Given the description of an element on the screen output the (x, y) to click on. 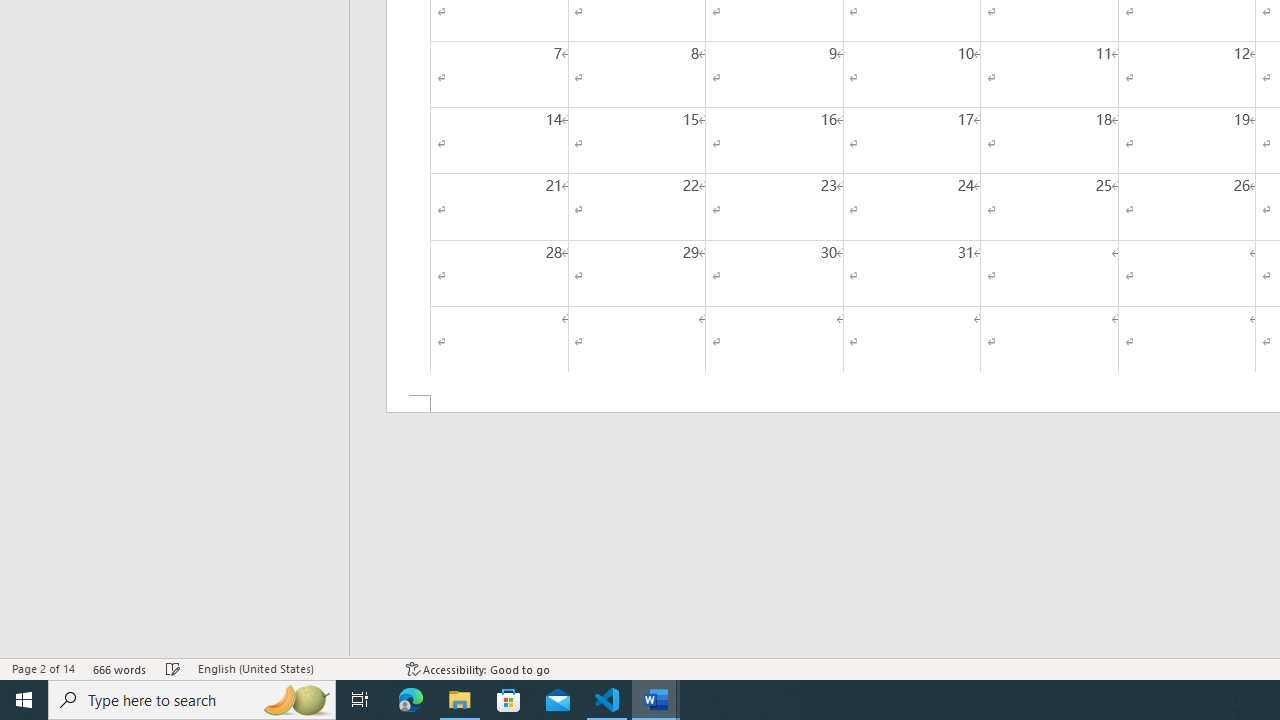
Page Number Page 2 of 14 (43, 668)
Word Count 666 words (119, 668)
